Given the description of an element on the screen output the (x, y) to click on. 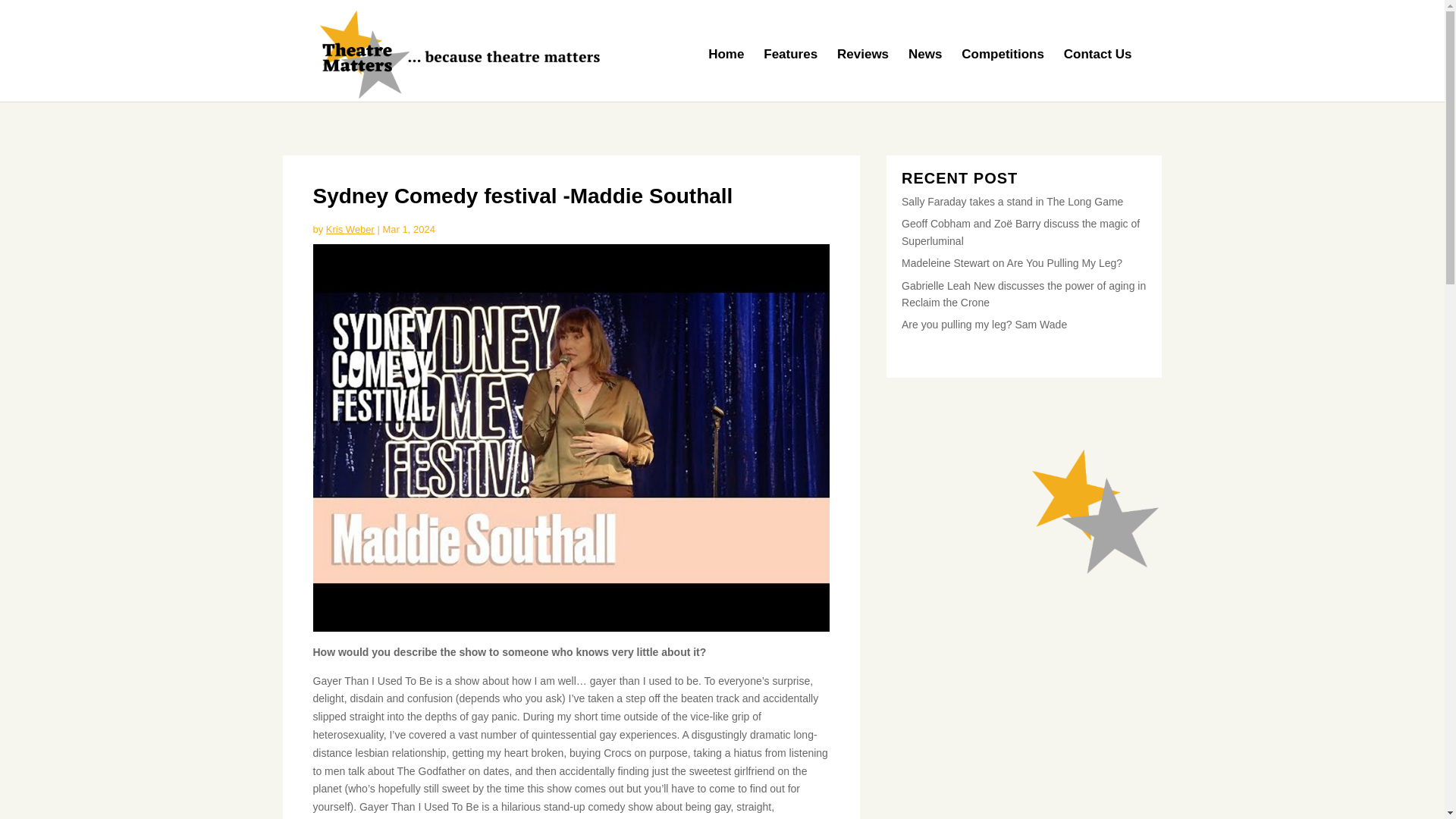
Madeleine Stewart on Are You Pulling My Leg? (1011, 263)
Sally Faraday takes a stand in The Long Game (1011, 201)
Competitions (1001, 75)
Contact Us (1098, 75)
Combined-Stars (1095, 511)
Are you pulling my leg? Sam Wade (984, 324)
Reviews (862, 75)
Features (789, 75)
Kris Weber (350, 229)
Posts by Kris Weber (350, 229)
